Given the description of an element on the screen output the (x, y) to click on. 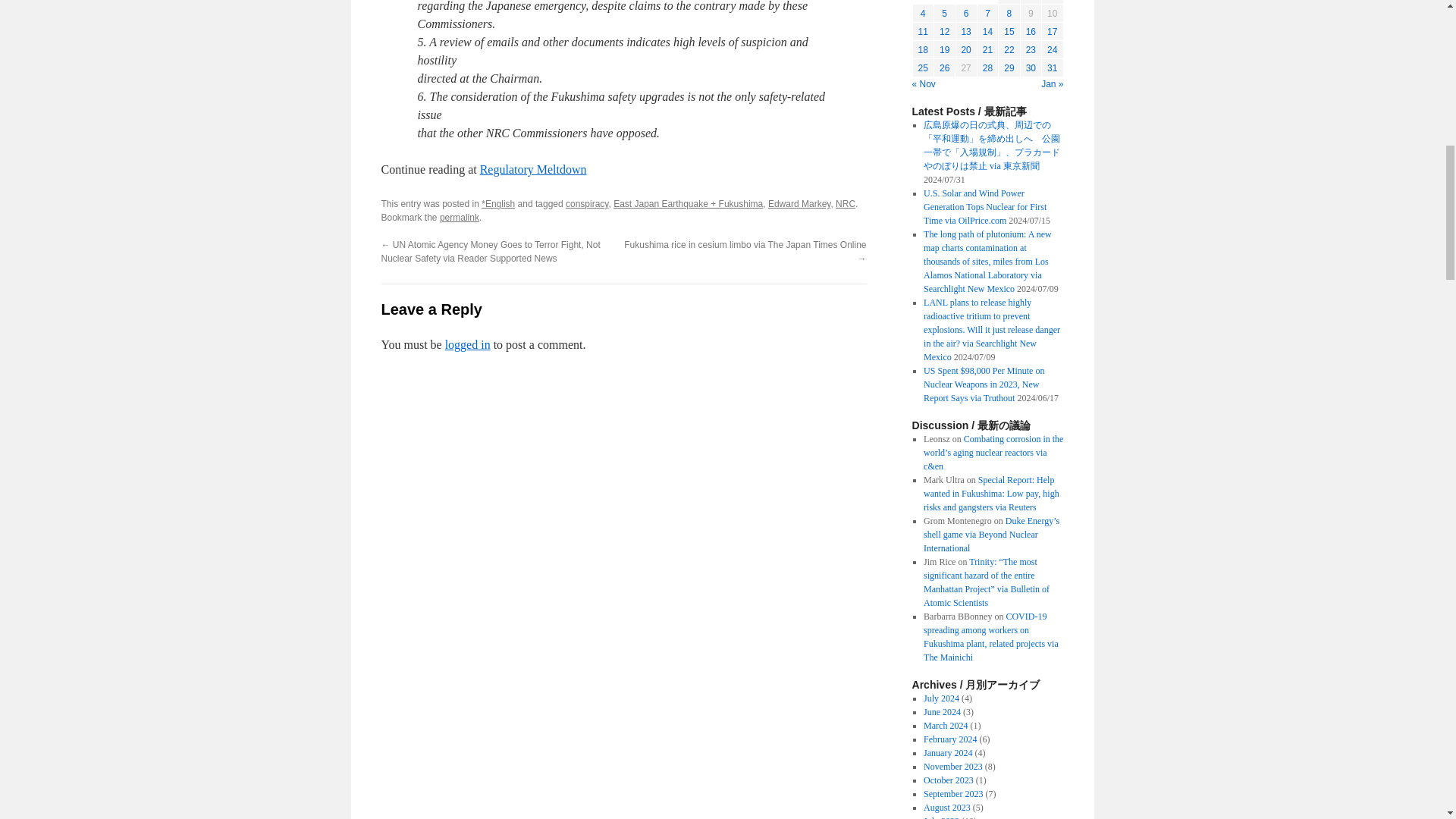
NRC (845, 204)
logged in (467, 344)
Regulatory Meltdown (533, 169)
permalink (459, 217)
conspiracy (587, 204)
Edward Markey (798, 204)
